Given the description of an element on the screen output the (x, y) to click on. 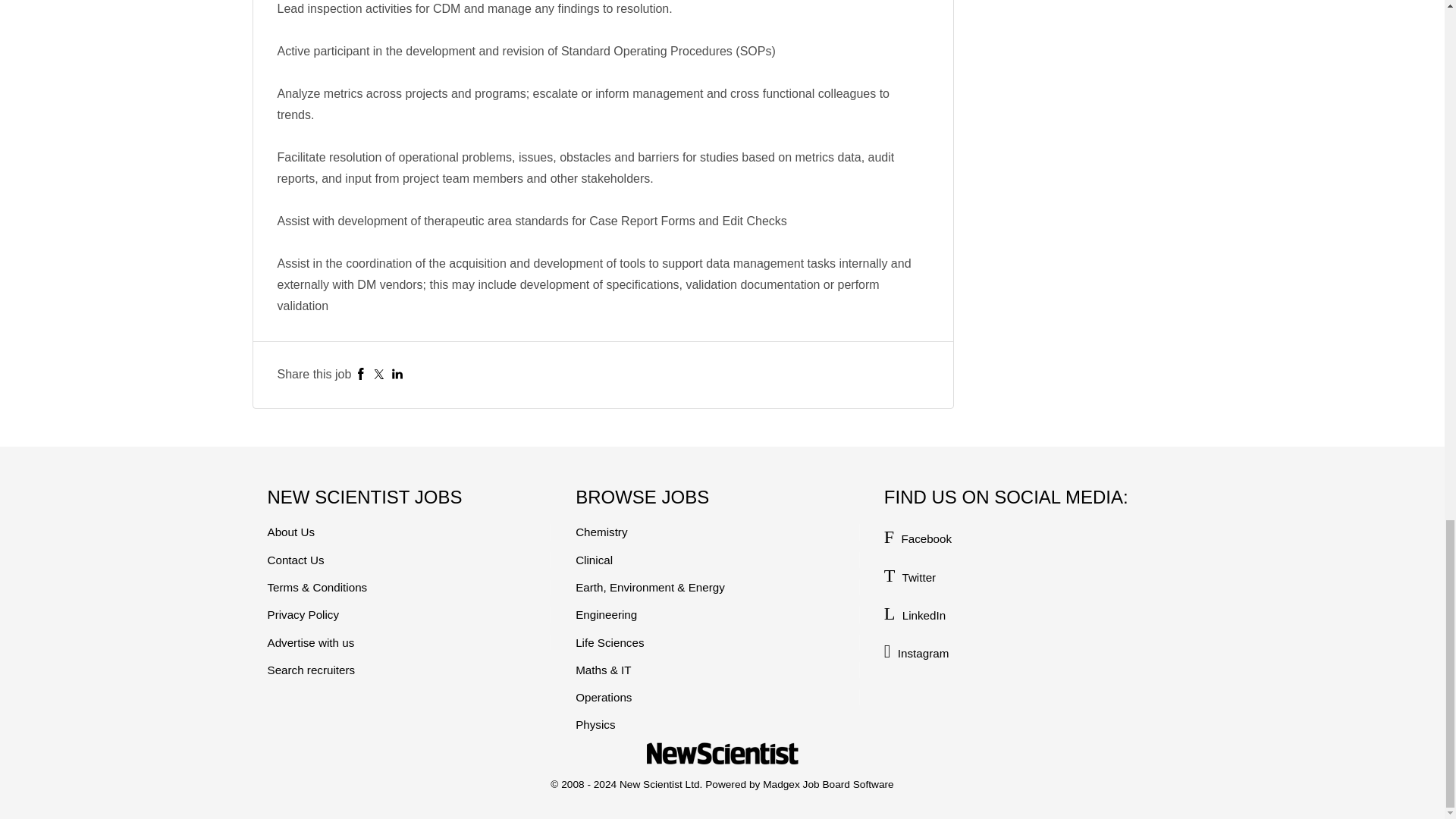
Facebook (360, 373)
LinkedIn (397, 373)
Twitter (378, 373)
